Given the description of an element on the screen output the (x, y) to click on. 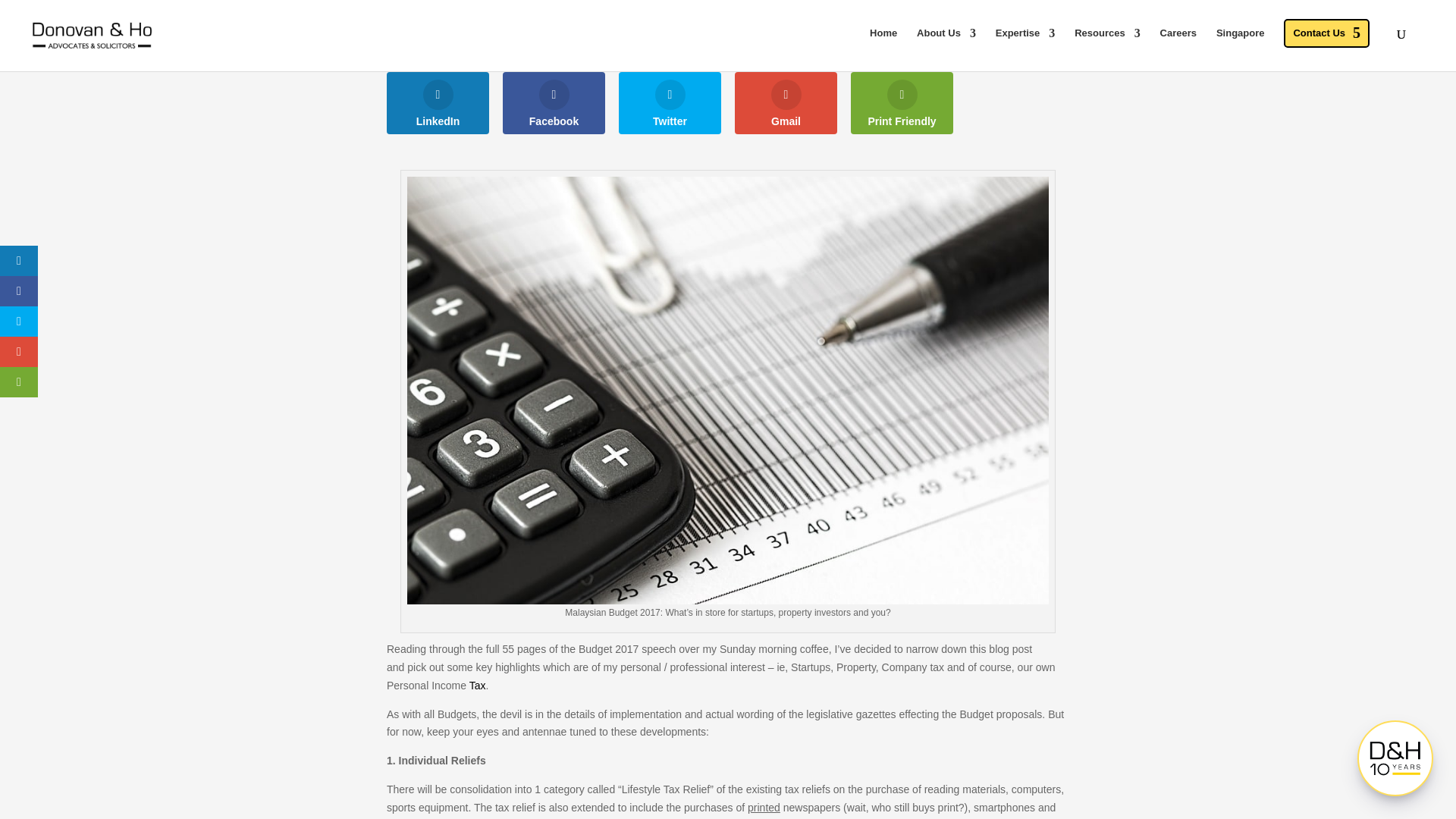
Twitter (669, 103)
LinkedIn (438, 103)
Gmail (786, 103)
Facebook (553, 103)
